Given the description of an element on the screen output the (x, y) to click on. 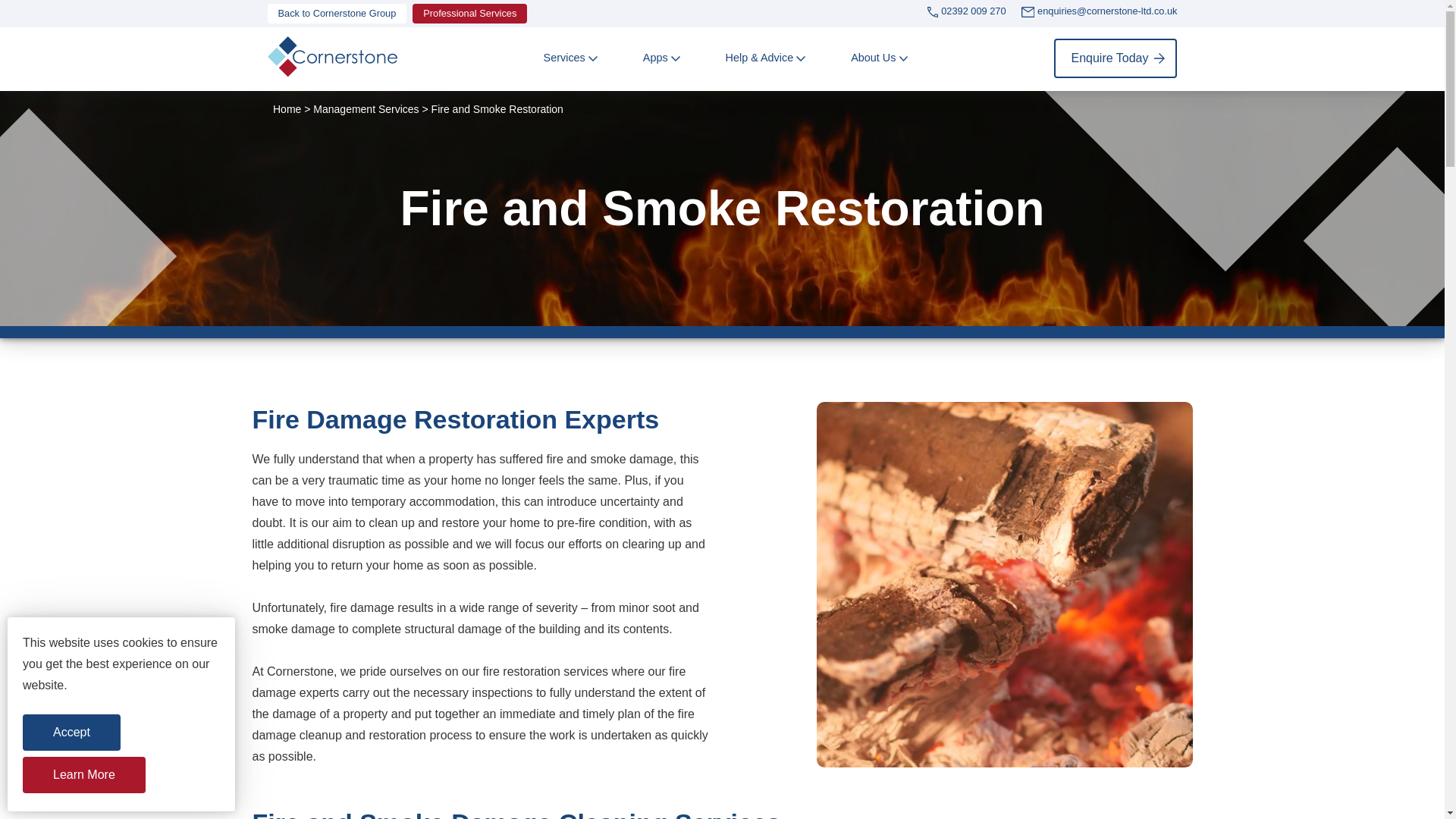
02392 009 270 (973, 13)
Cornerstone Ltd (331, 58)
Enquire Today (1115, 57)
Back to Cornerstone Group (336, 13)
Professional Services (469, 13)
About Us (872, 57)
Services (564, 57)
Apps (655, 57)
